Given the description of an element on the screen output the (x, y) to click on. 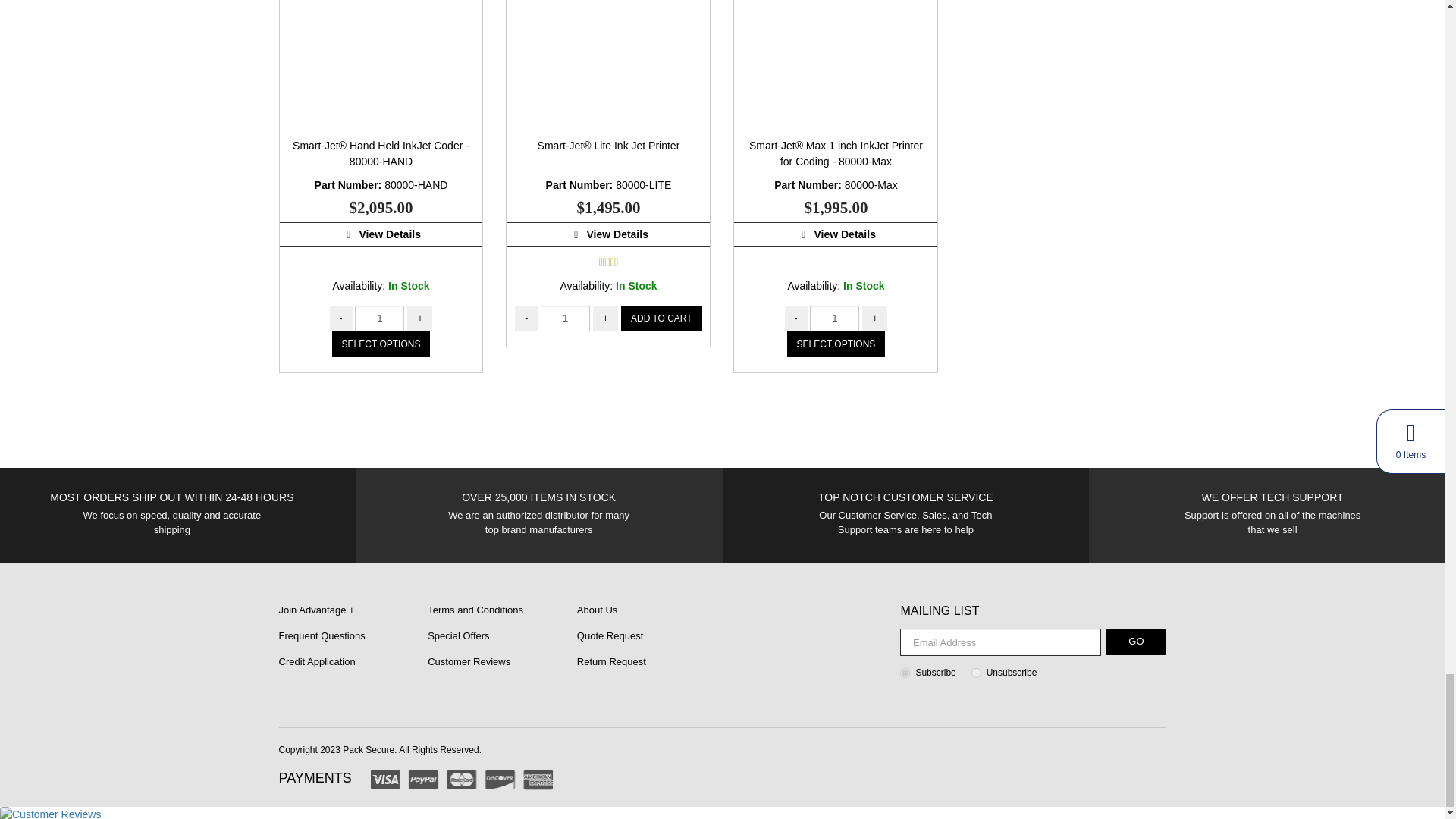
1 (379, 317)
1 (834, 317)
Mailing Submit (1136, 641)
1 (904, 673)
0 (976, 673)
1 (564, 317)
